Given the description of an element on the screen output the (x, y) to click on. 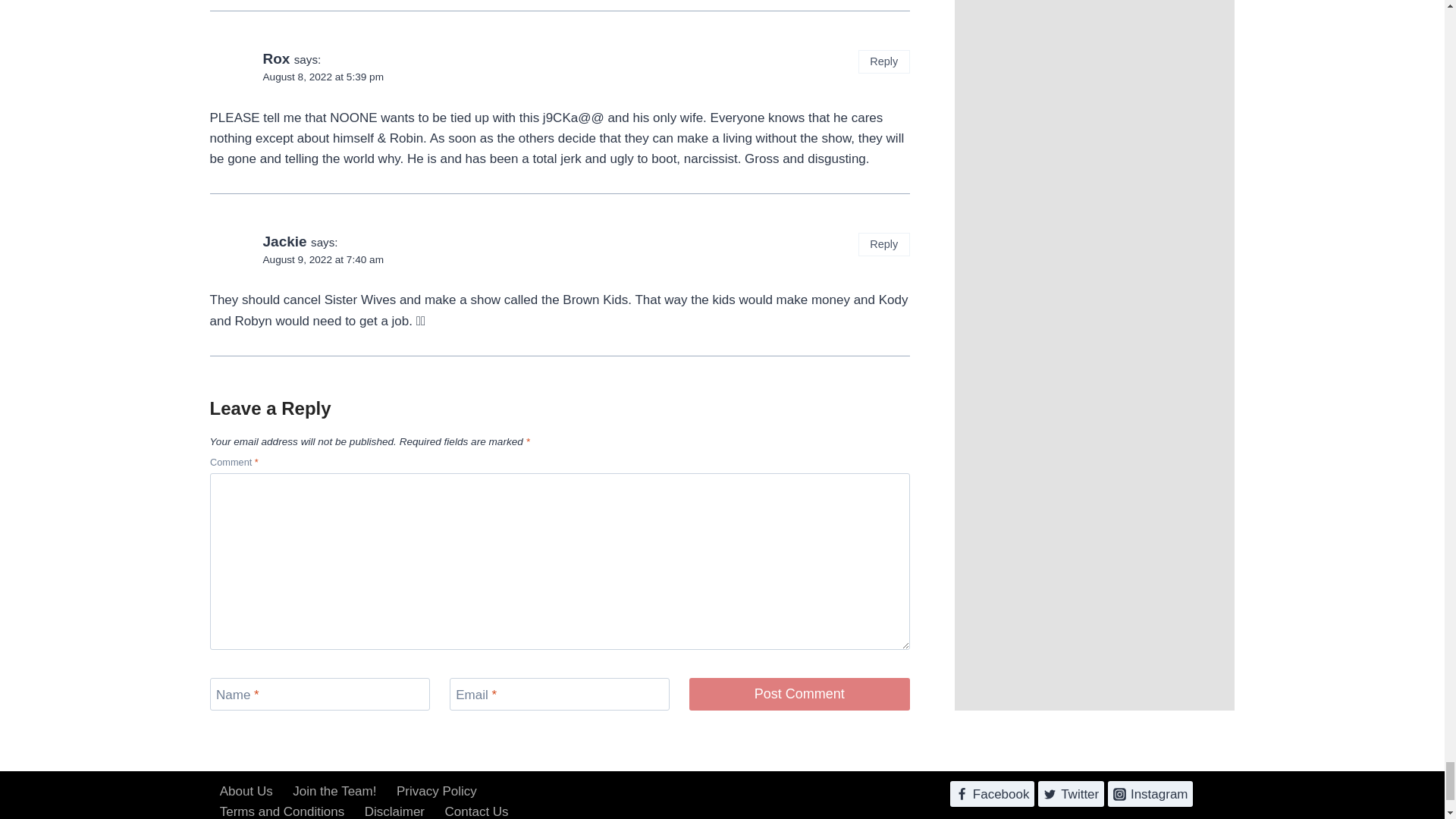
Post Comment (799, 694)
